Given the description of an element on the screen output the (x, y) to click on. 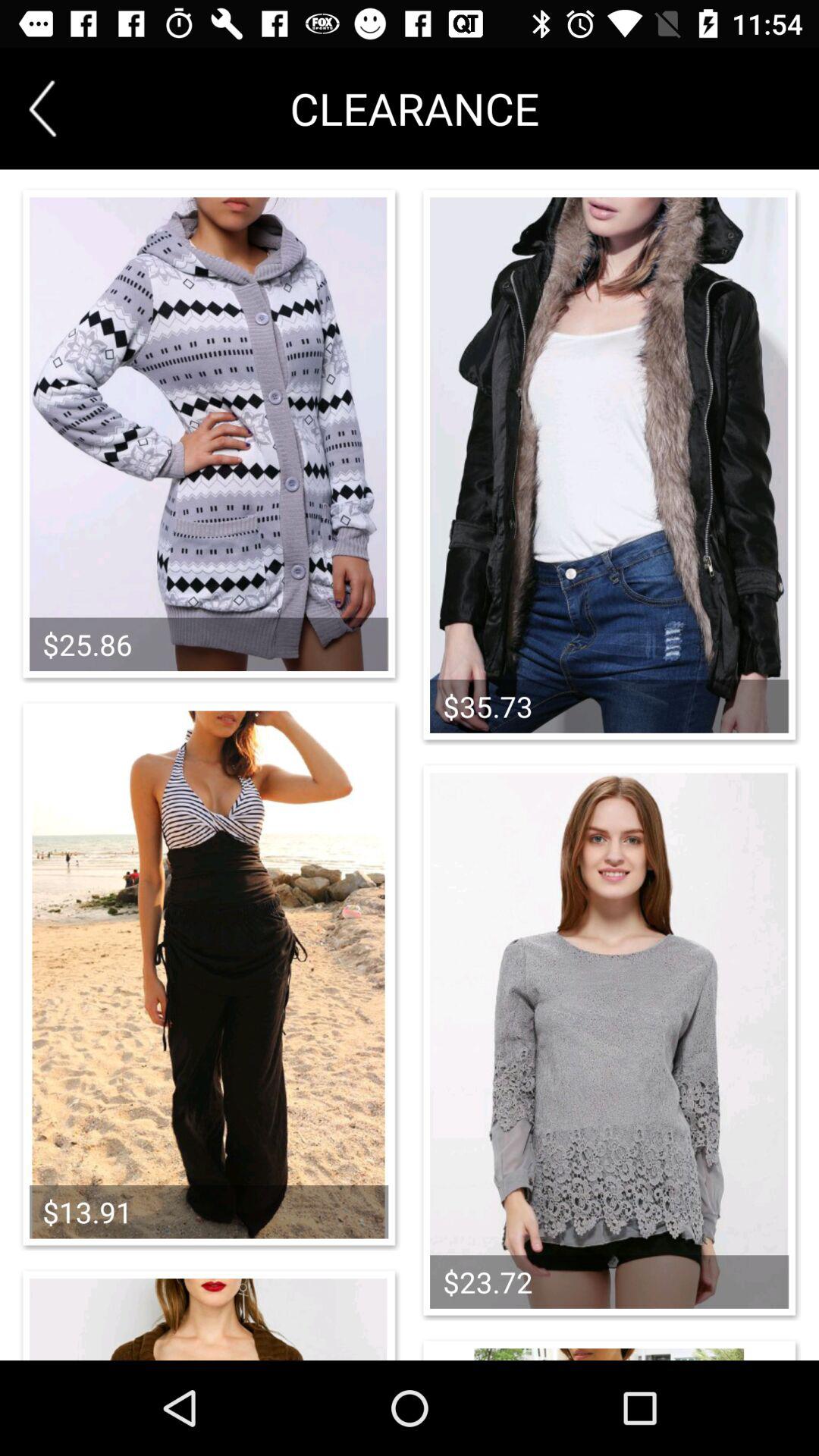
go to previous screen (42, 108)
